Given the description of an element on the screen output the (x, y) to click on. 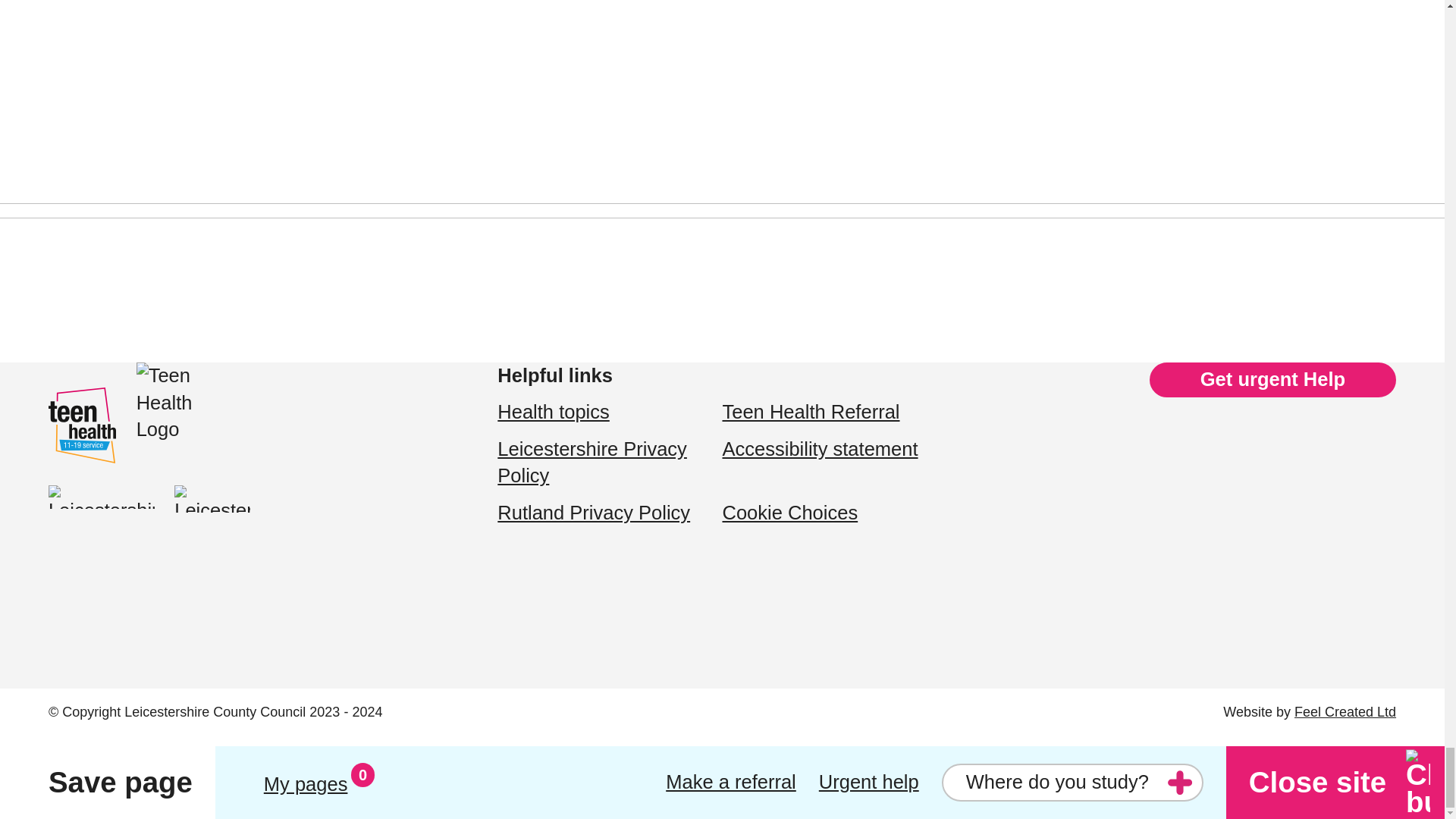
Leicestershire Privacy Policy (592, 462)
Health topics (553, 411)
Leicestershire Privacy Policy (592, 462)
Teen Health Referral (810, 411)
Rutland Privacy Policy (593, 512)
Accessibility statement (819, 448)
Rutland Privacy Policy (593, 512)
Teen Health Referral (810, 411)
Feel Created Ltd (1345, 711)
Cookie Choices (789, 512)
